Given the description of an element on the screen output the (x, y) to click on. 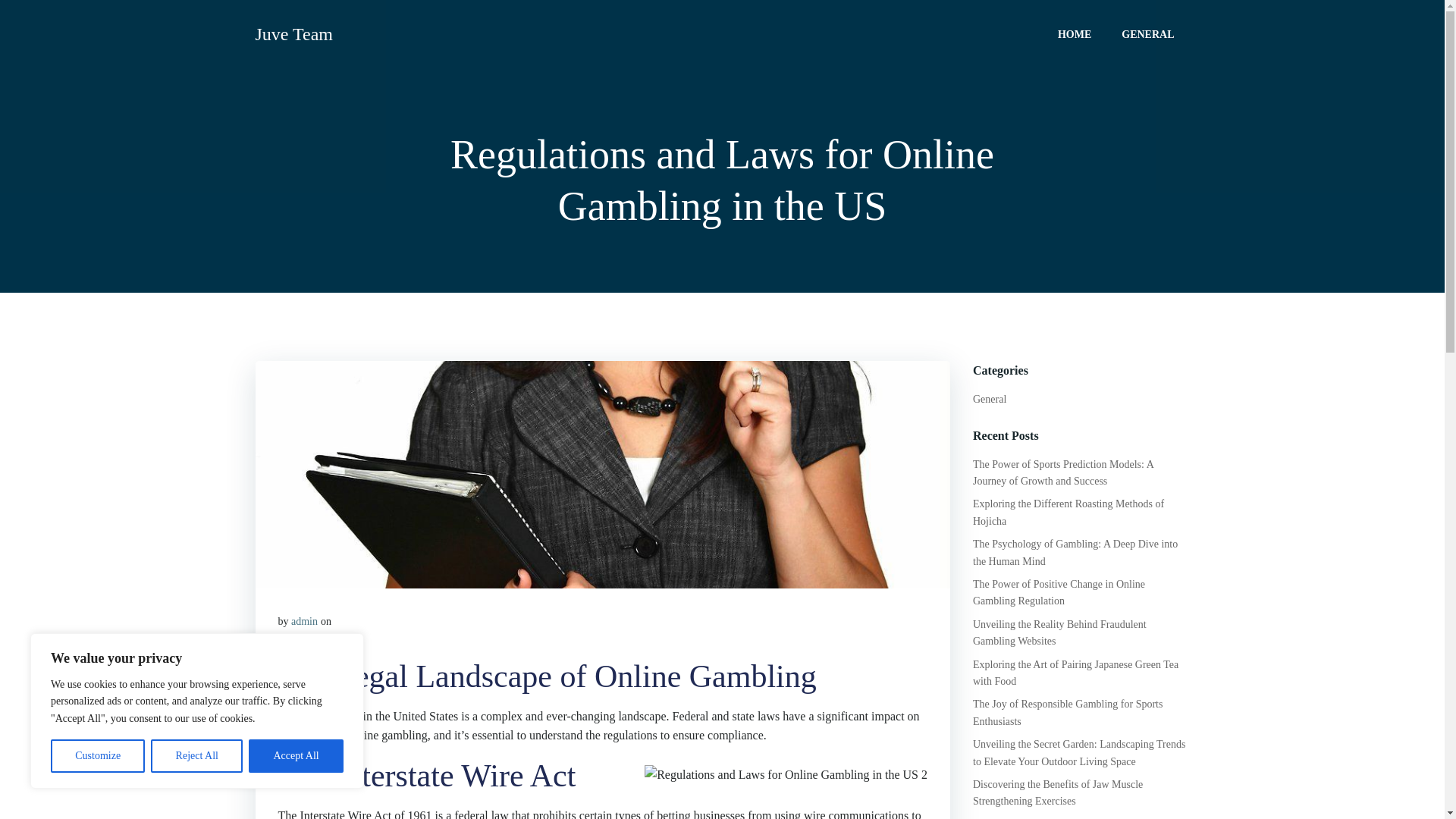
Exploring the Art of Pairing Japanese Green Tea with Food (1074, 673)
Accept All (295, 756)
The Power of Positive Change in Online Gambling Regulation (1058, 592)
Reject All (197, 756)
General (989, 398)
The Joy of Responsible Gambling for Sports Enthusiasts (1066, 712)
The Psychology of Gambling: A Deep Dive into the Human Mind (1074, 552)
Customize (97, 756)
Unveiling the Reality Behind Fraudulent Gambling Websites (1059, 633)
admin (304, 621)
Exploring the Different Roasting Methods of Hojicha (1067, 511)
HOME (1074, 33)
GENERAL (1147, 33)
Juve Team (293, 33)
